Given the description of an element on the screen output the (x, y) to click on. 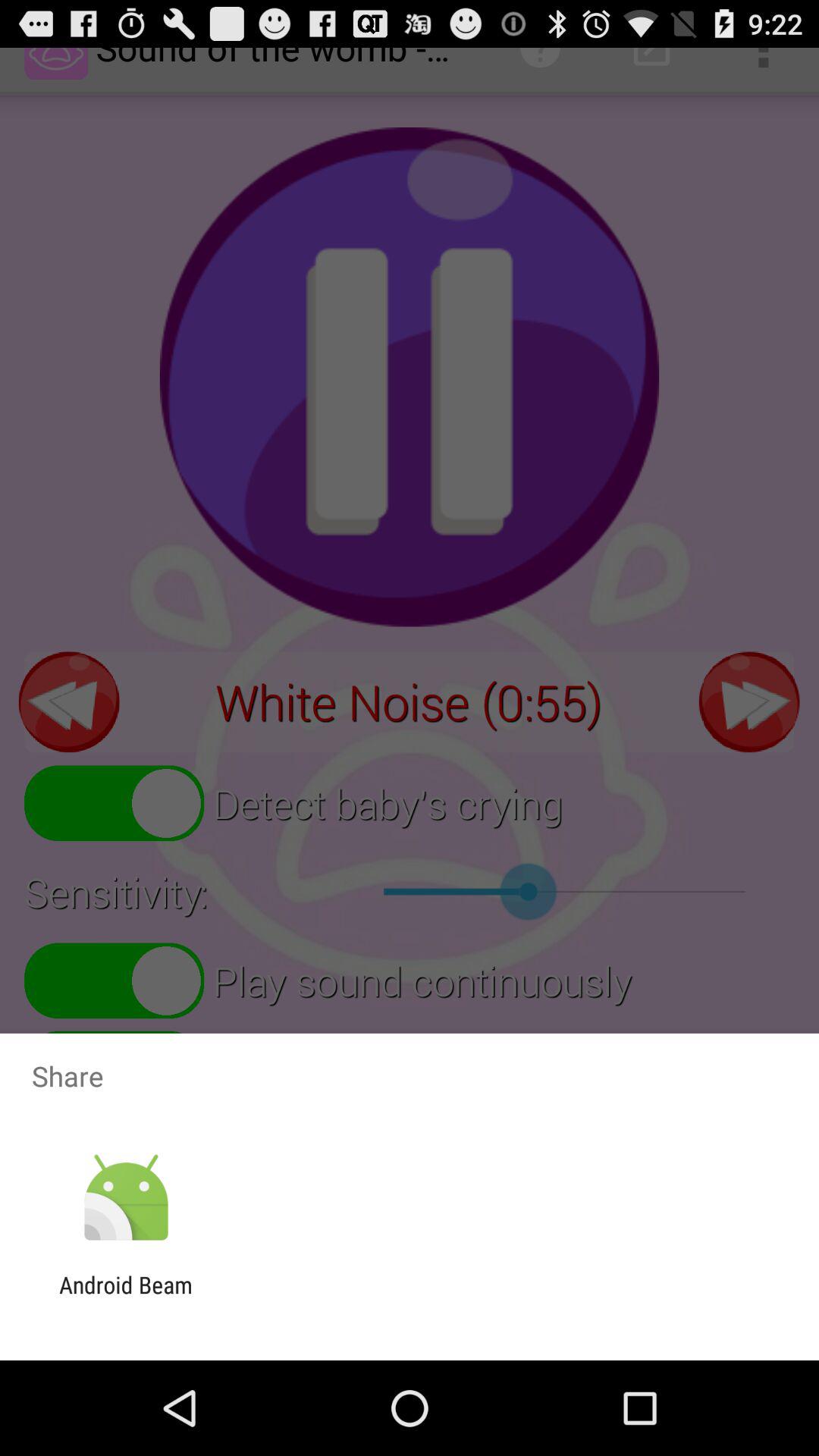
launch android beam icon (125, 1298)
